Given the description of an element on the screen output the (x, y) to click on. 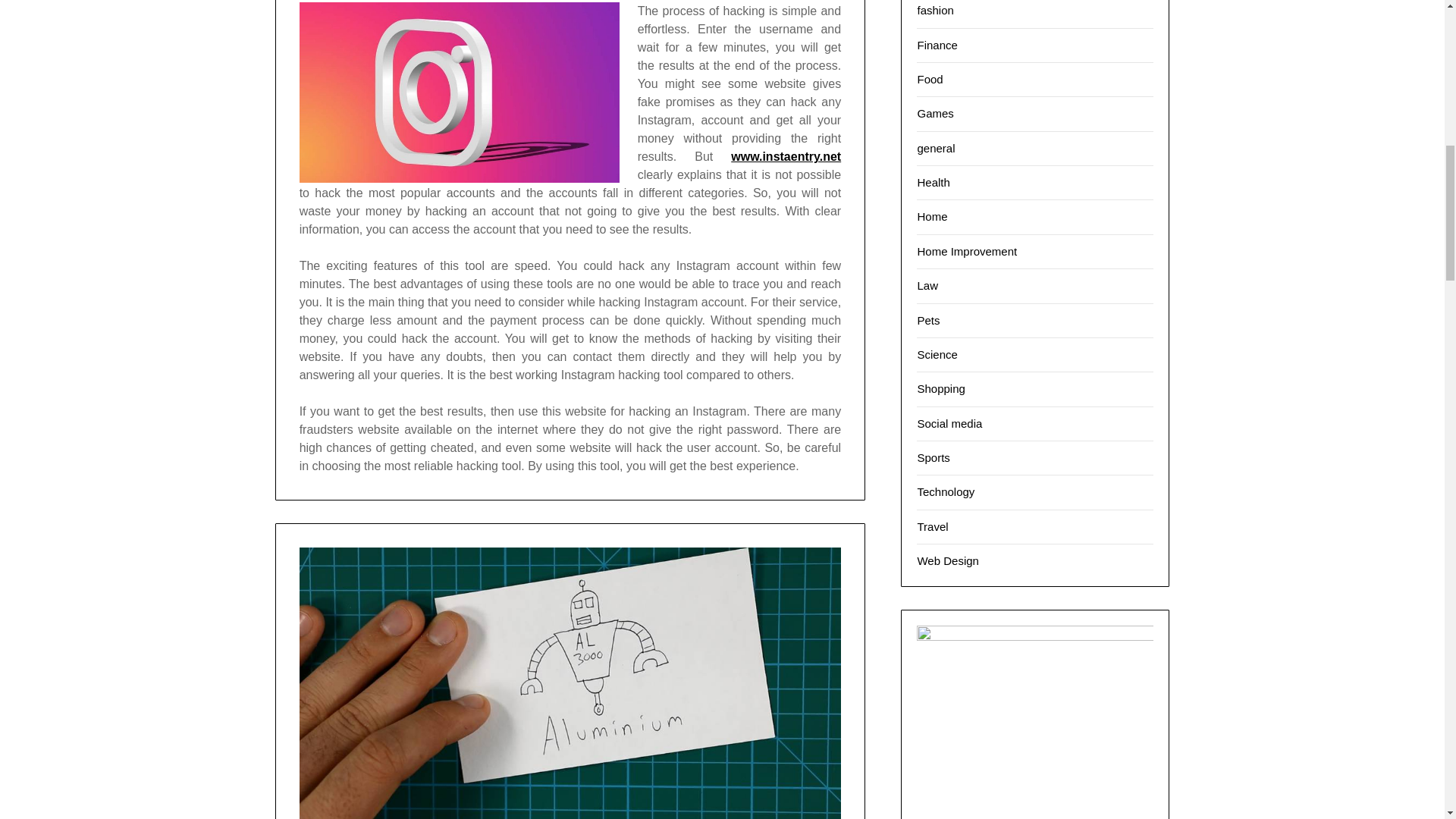
www.instaentry.net (785, 155)
